Given the description of an element on the screen output the (x, y) to click on. 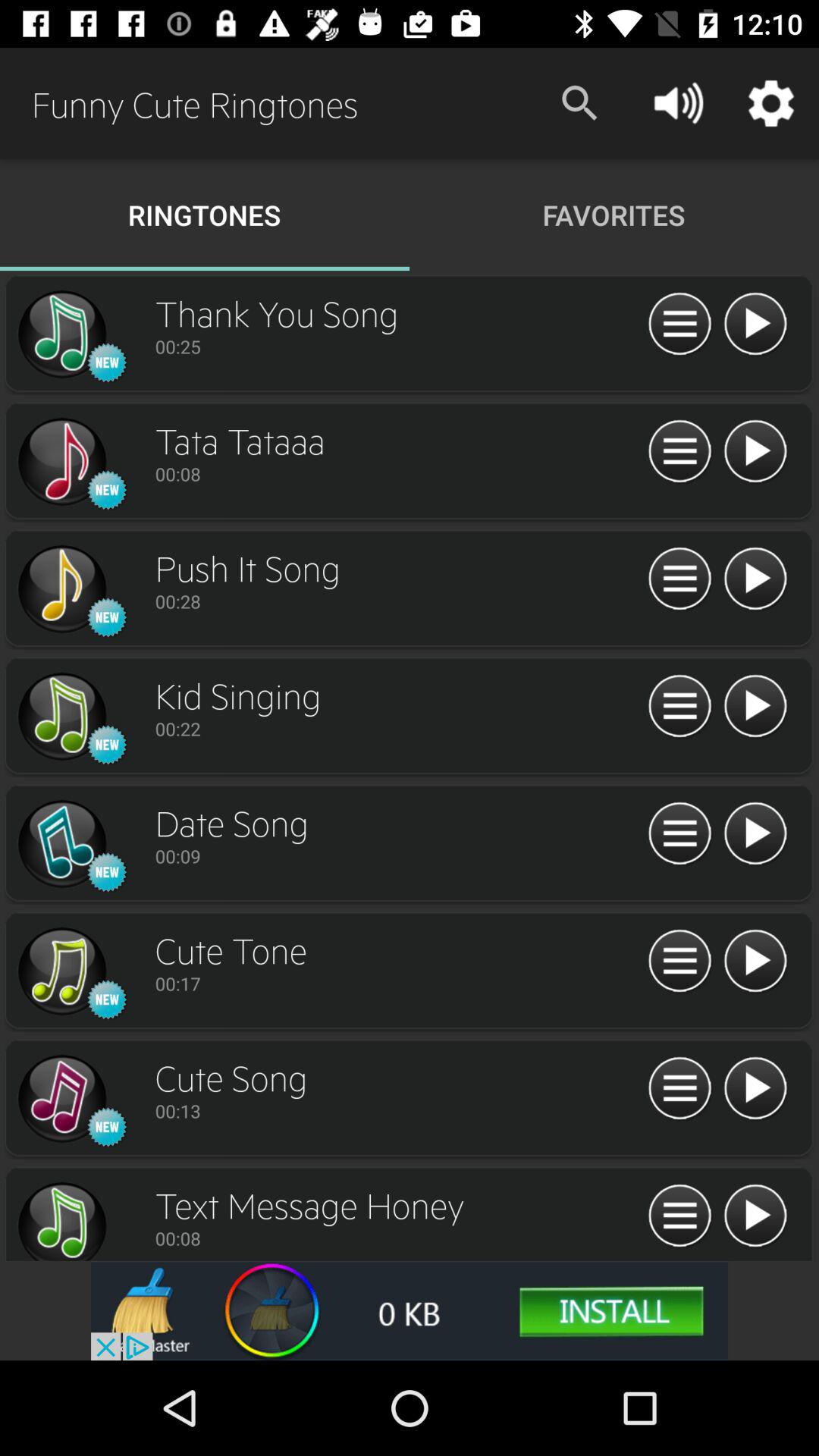
play music clip (755, 451)
